Given the description of an element on the screen output the (x, y) to click on. 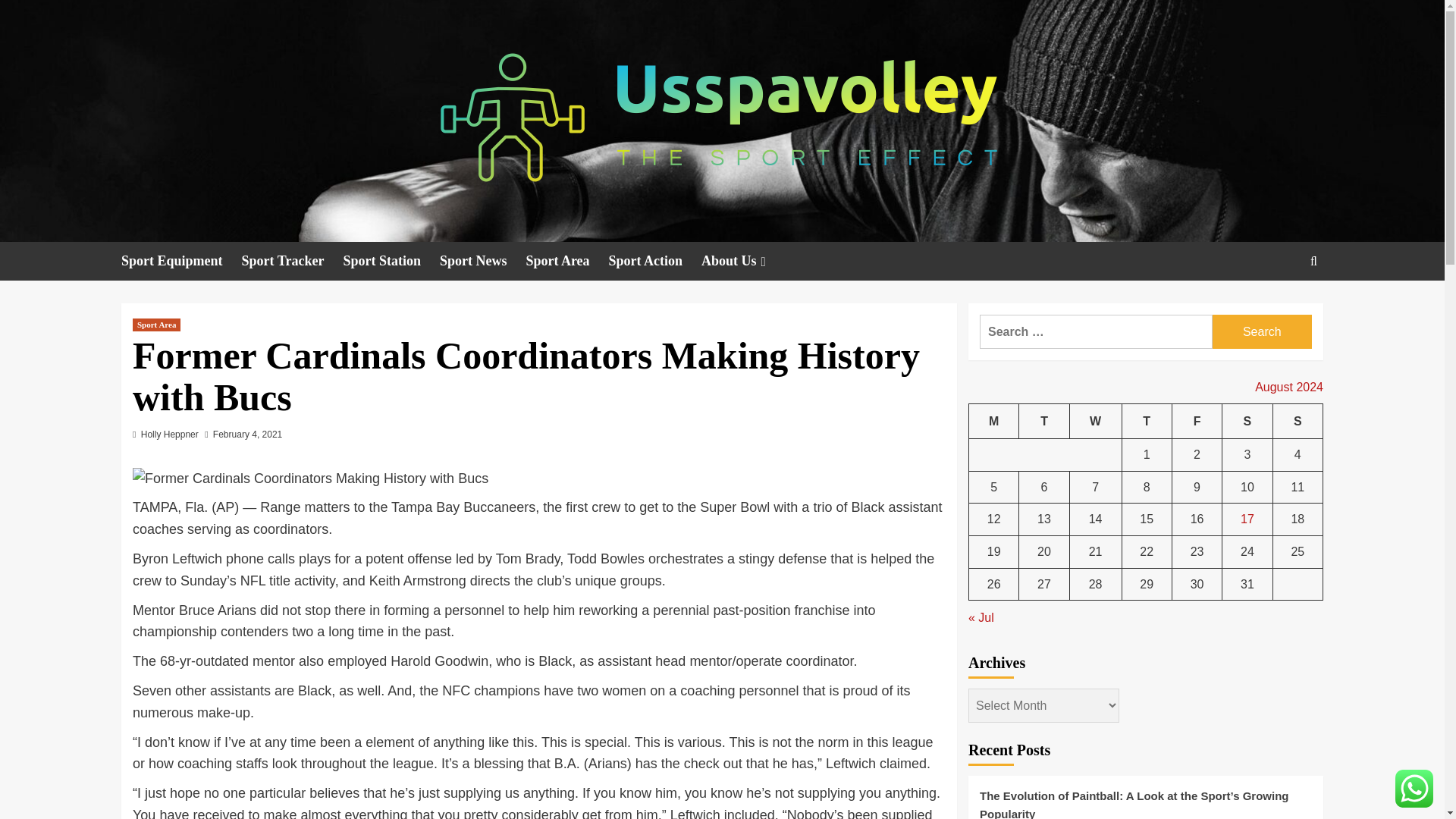
Thursday (1146, 420)
Monday (994, 420)
Sport Tracker (292, 260)
Saturday (1247, 420)
Sport Action (654, 260)
Search (1278, 308)
Friday (1196, 420)
February 4, 2021 (247, 434)
Sport Equipment (180, 260)
Holly Heppner (169, 434)
